Given the description of an element on the screen output the (x, y) to click on. 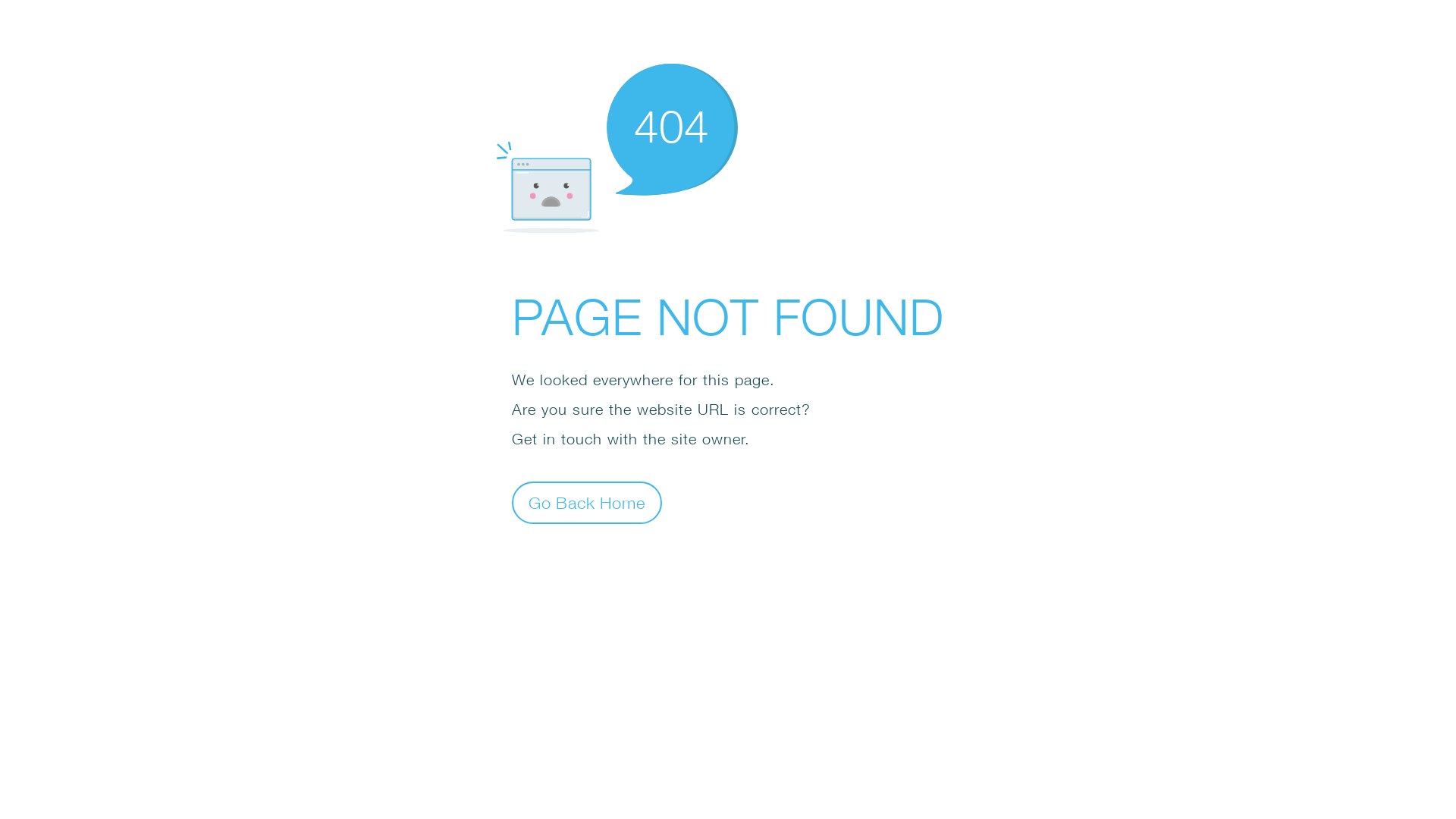
Go Back Home Element type: text (586, 502)
